Given the description of an element on the screen output the (x, y) to click on. 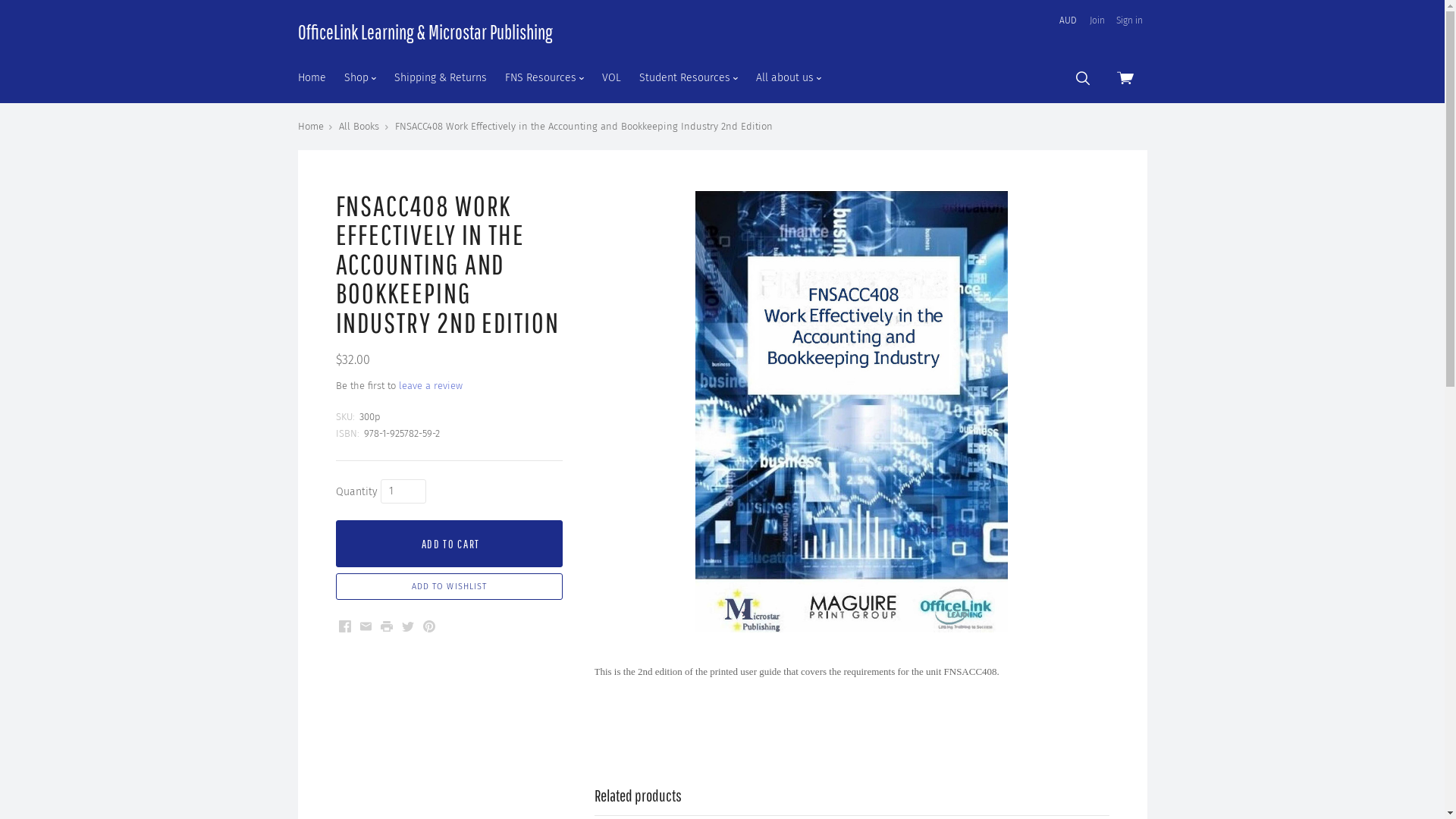
Sign in Element type: text (1129, 21)
All about us Element type: text (787, 77)
Join Element type: text (1096, 21)
OfficeLink Learning & Microstar Publishing Element type: text (424, 31)
Home Element type: text (310, 125)
Home Element type: text (311, 77)
Add to Wishlist Element type: text (448, 586)
FNS Resources Element type: text (544, 77)
All Books Element type: text (358, 125)
Shop Element type: text (360, 77)
Email Element type: text (364, 626)
Shipping & Returns Element type: text (440, 77)
leave a review Element type: text (430, 385)
ADD TO CART Element type: text (448, 543)
VOL Element type: text (611, 77)
Pinterest Element type: text (429, 626)
Student Resources Element type: text (687, 77)
View cart Element type: text (1125, 77)
Twitter Element type: text (407, 626)
Print Element type: text (386, 626)
Facebook Element type: text (344, 626)
